Given the description of an element on the screen output the (x, y) to click on. 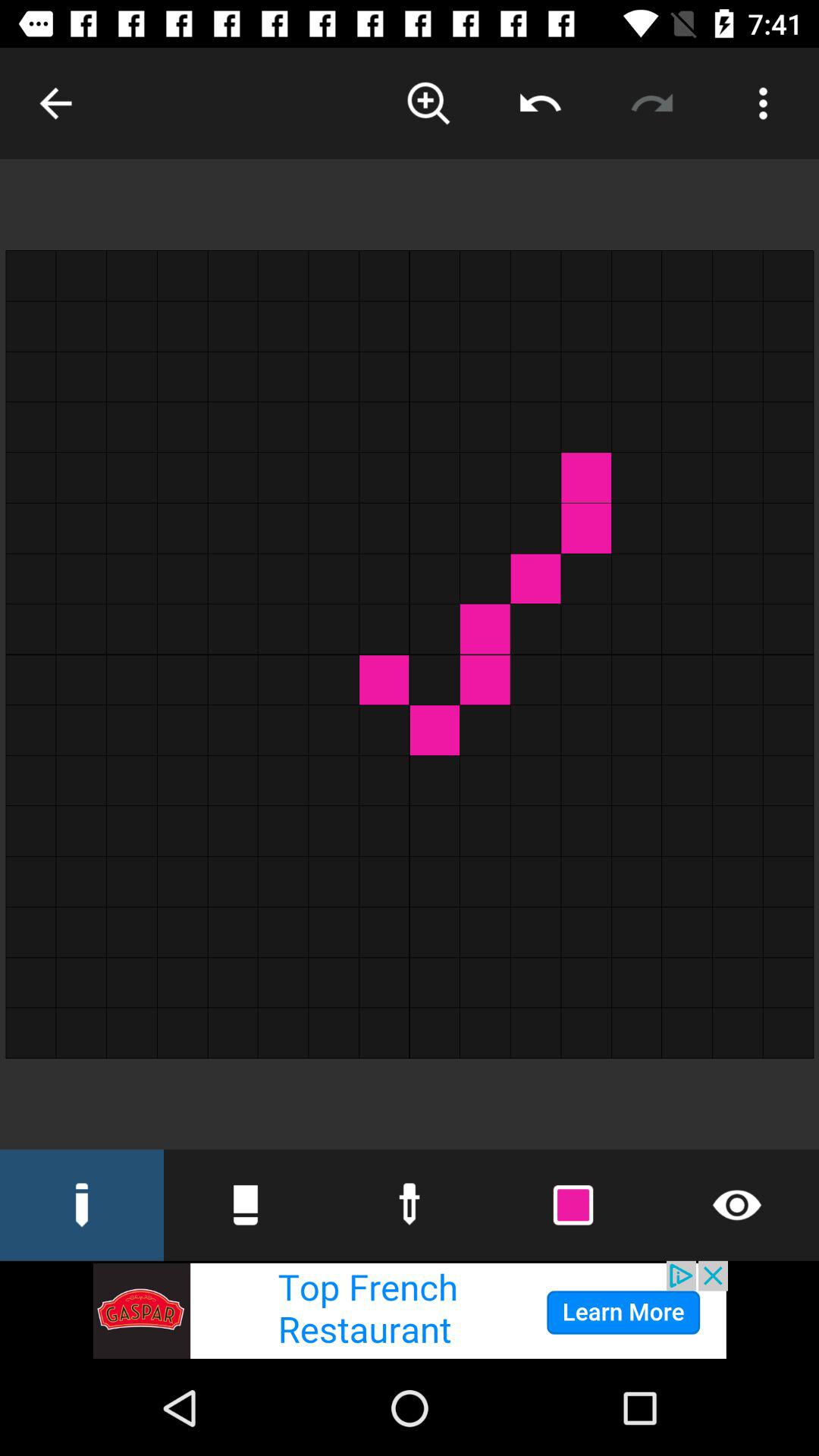
toggle redo (651, 103)
